Given the description of an element on the screen output the (x, y) to click on. 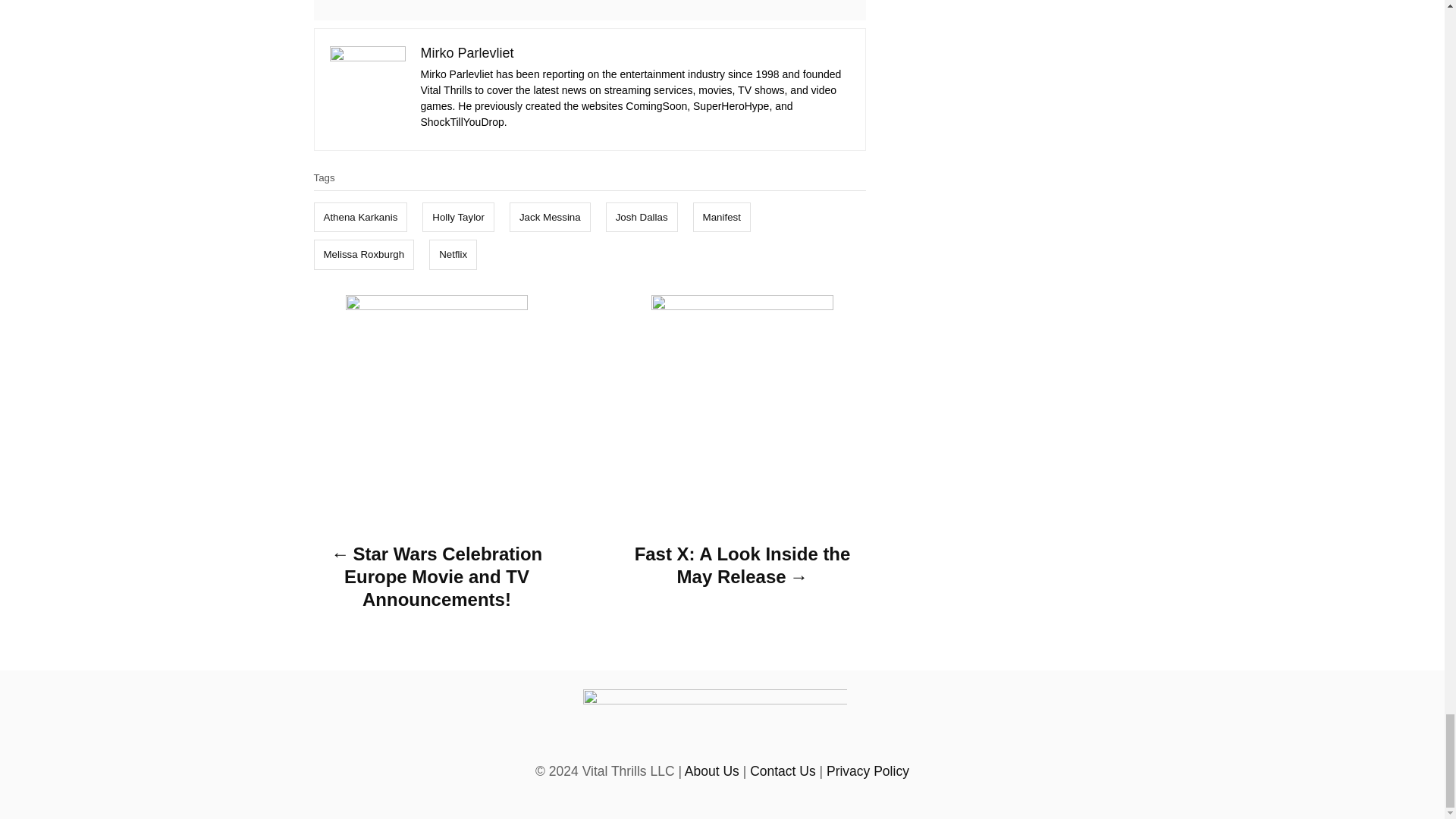
Fast X: A Look Inside the May Release (741, 569)
About Us (711, 770)
Star Wars Celebration Europe Movie and TV Announcements! (437, 580)
Mirko Parlevliet (466, 52)
Josh Dallas (641, 217)
Athena Karkanis (360, 217)
Holly Taylor (458, 217)
Melissa Roxburgh (364, 254)
Contact Us (782, 770)
Privacy Policy (867, 770)
Jack Messina (550, 217)
Netflix (453, 254)
Manifest (722, 217)
